Given the description of an element on the screen output the (x, y) to click on. 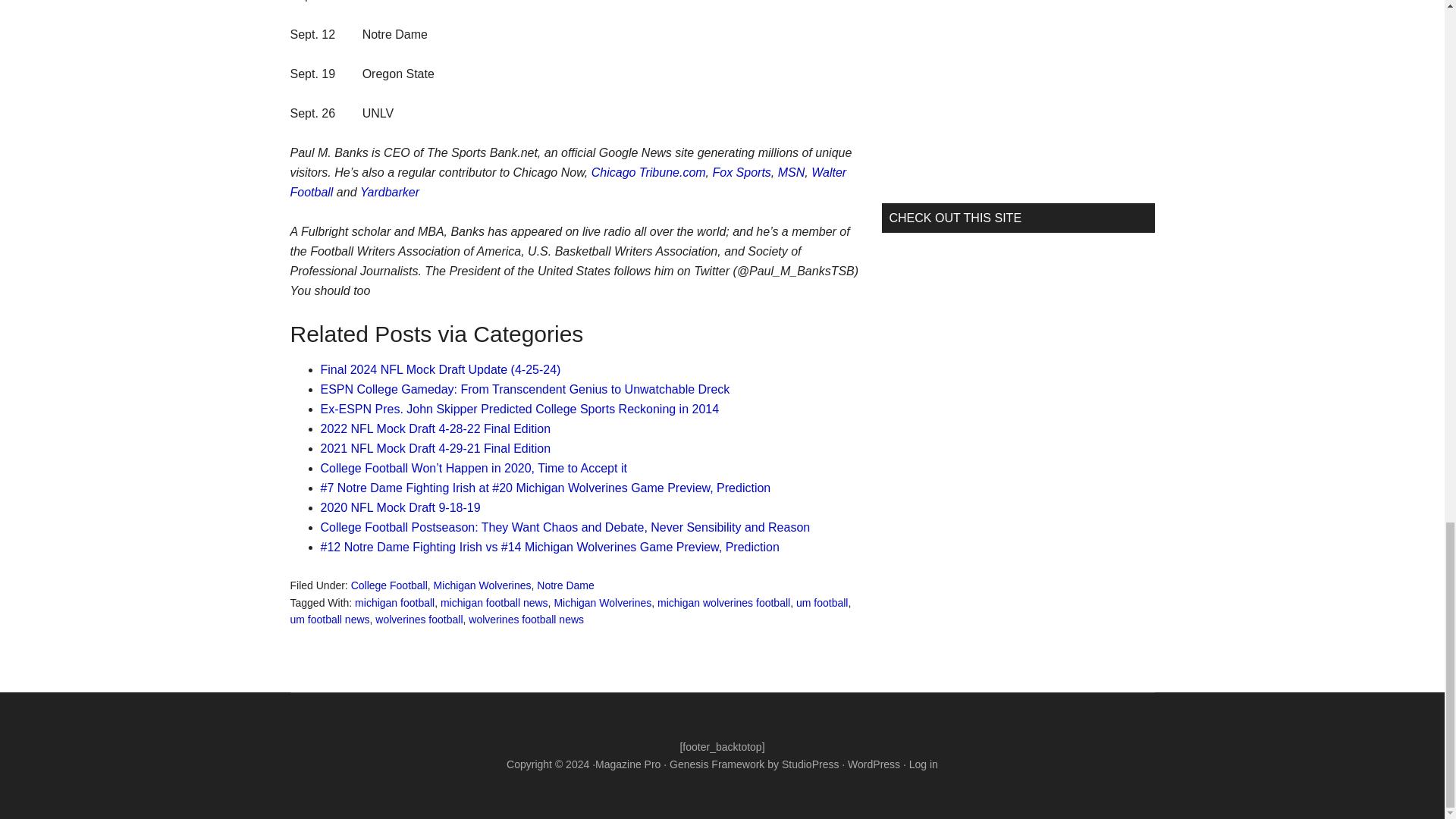
College Football (389, 585)
Chicago Tribune.com (648, 172)
2021 NFL Mock Draft 4-29-21 Final Edition (435, 448)
2022 NFL Mock Draft 4-28-22 Final Edition (435, 428)
2020 NFL Mock Draft 9-18-19 (400, 507)
Fox Sports (742, 172)
2022 NFL Mock Draft 4-28-22 Final Edition (435, 428)
Yardbarker (389, 192)
MSN (791, 172)
Walter Football (567, 182)
